Given the description of an element on the screen output the (x, y) to click on. 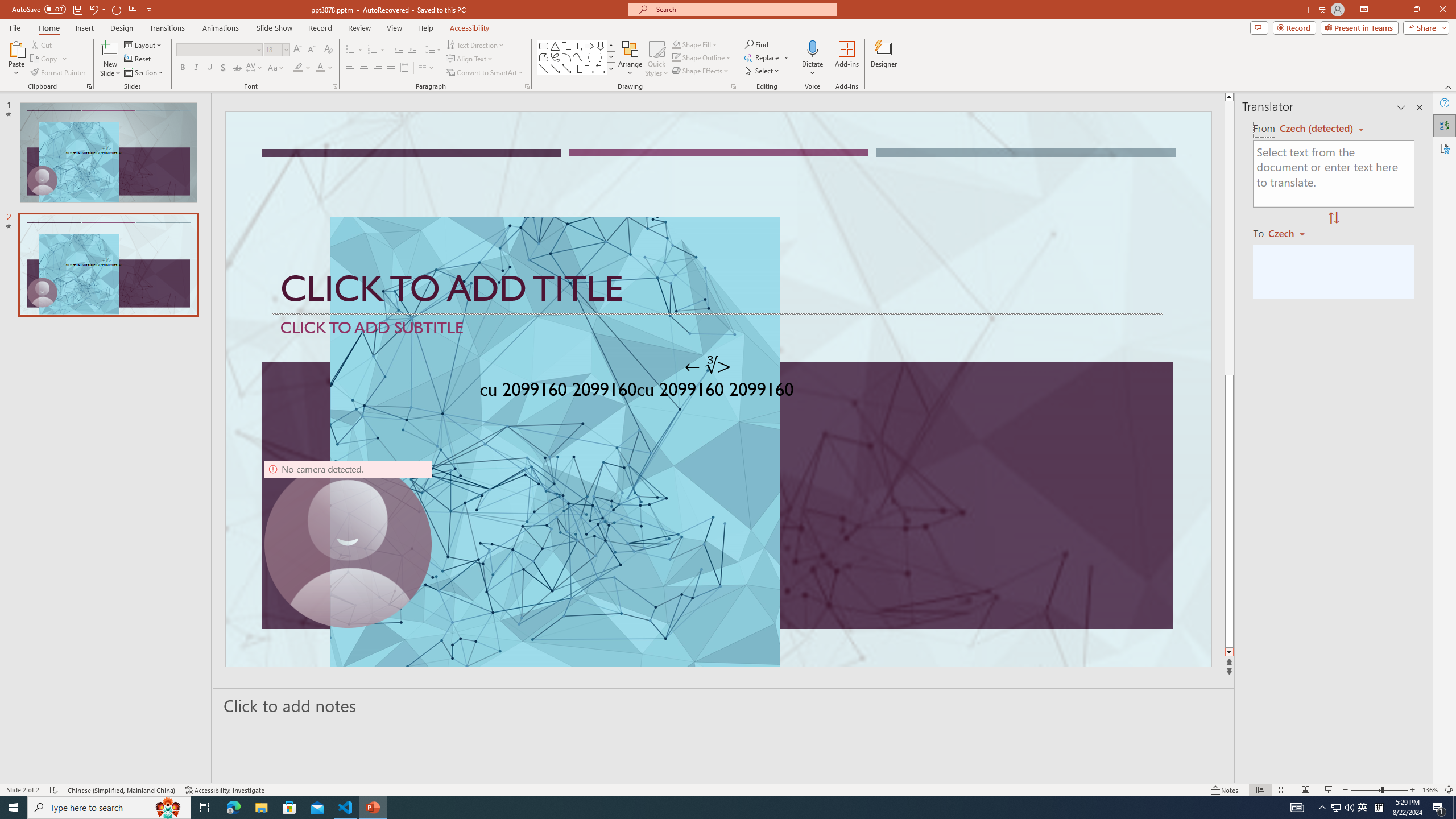
Swap "from" and "to" languages. (1333, 218)
